Given the description of an element on the screen output the (x, y) to click on. 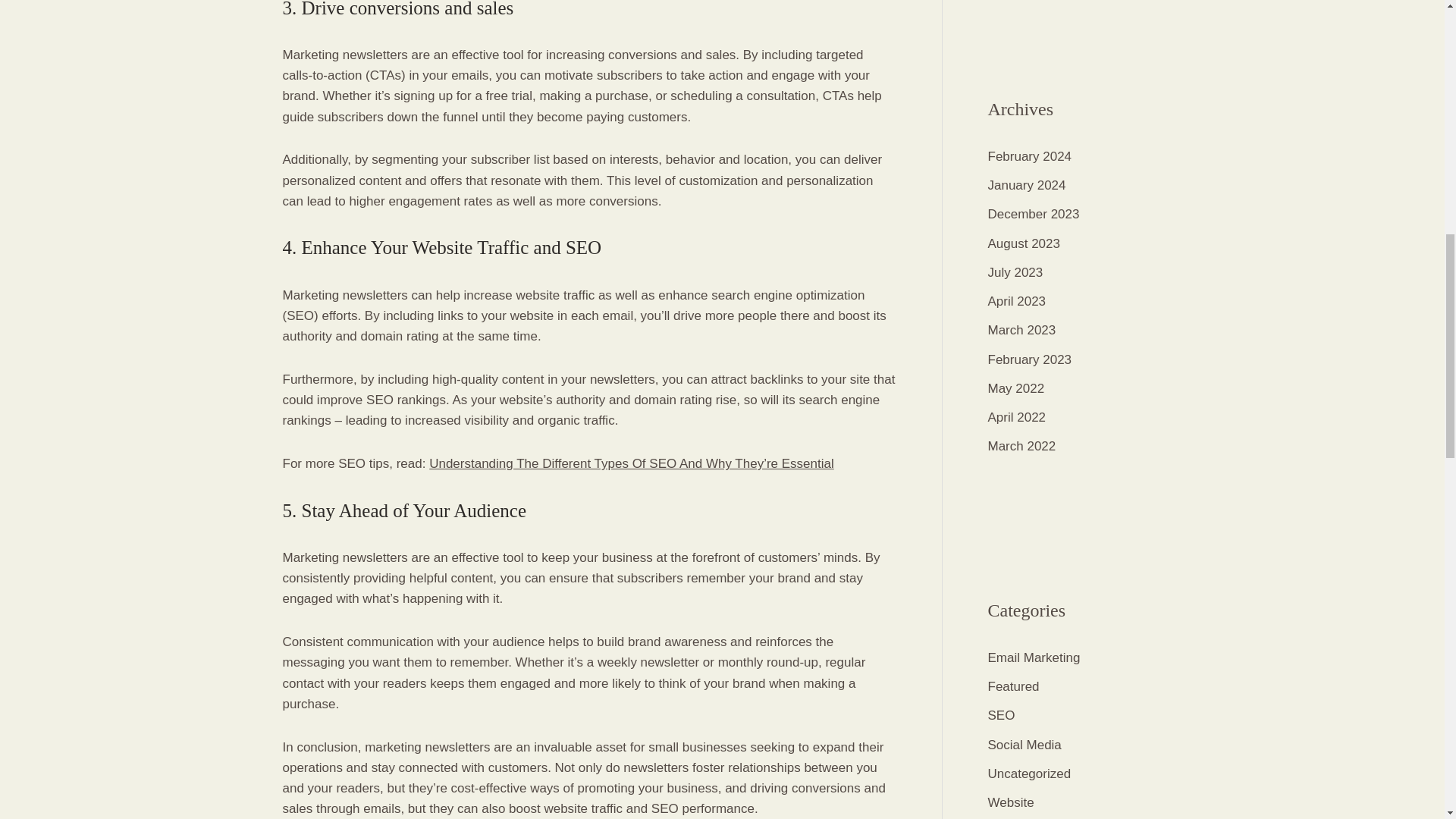
December 2023 (1032, 214)
August 2023 (1023, 243)
February 2024 (1029, 156)
January 2024 (1026, 185)
